Given the description of an element on the screen output the (x, y) to click on. 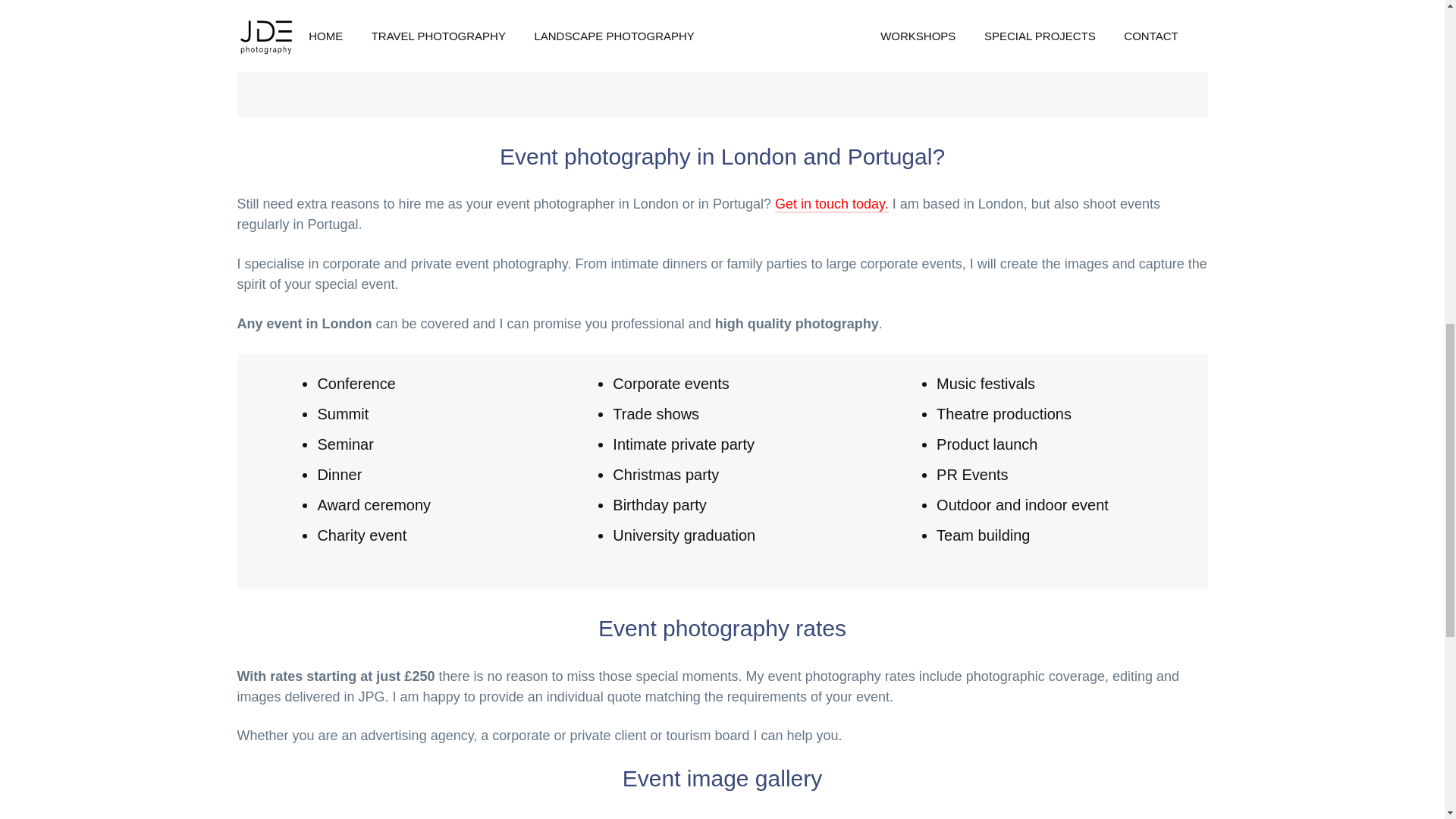
Get in touch today. (831, 204)
